Given the description of an element on the screen output the (x, y) to click on. 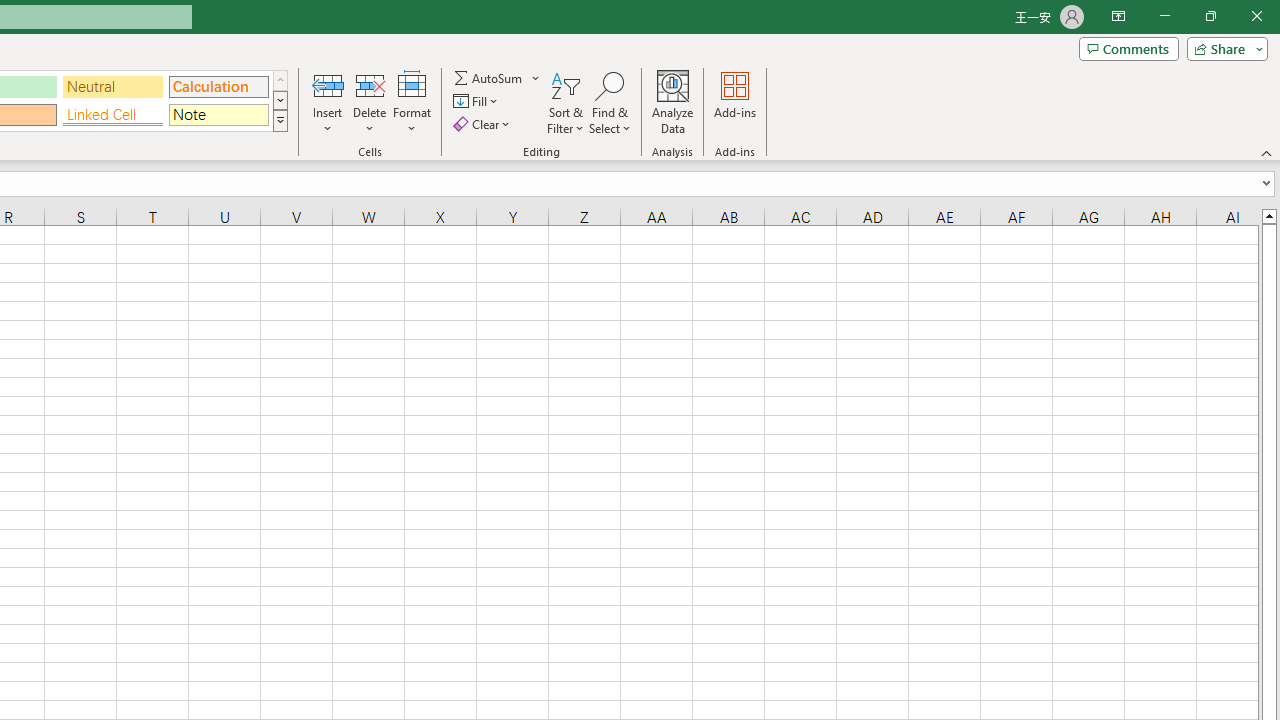
Restore Down (1210, 16)
